Given the description of an element on the screen output the (x, y) to click on. 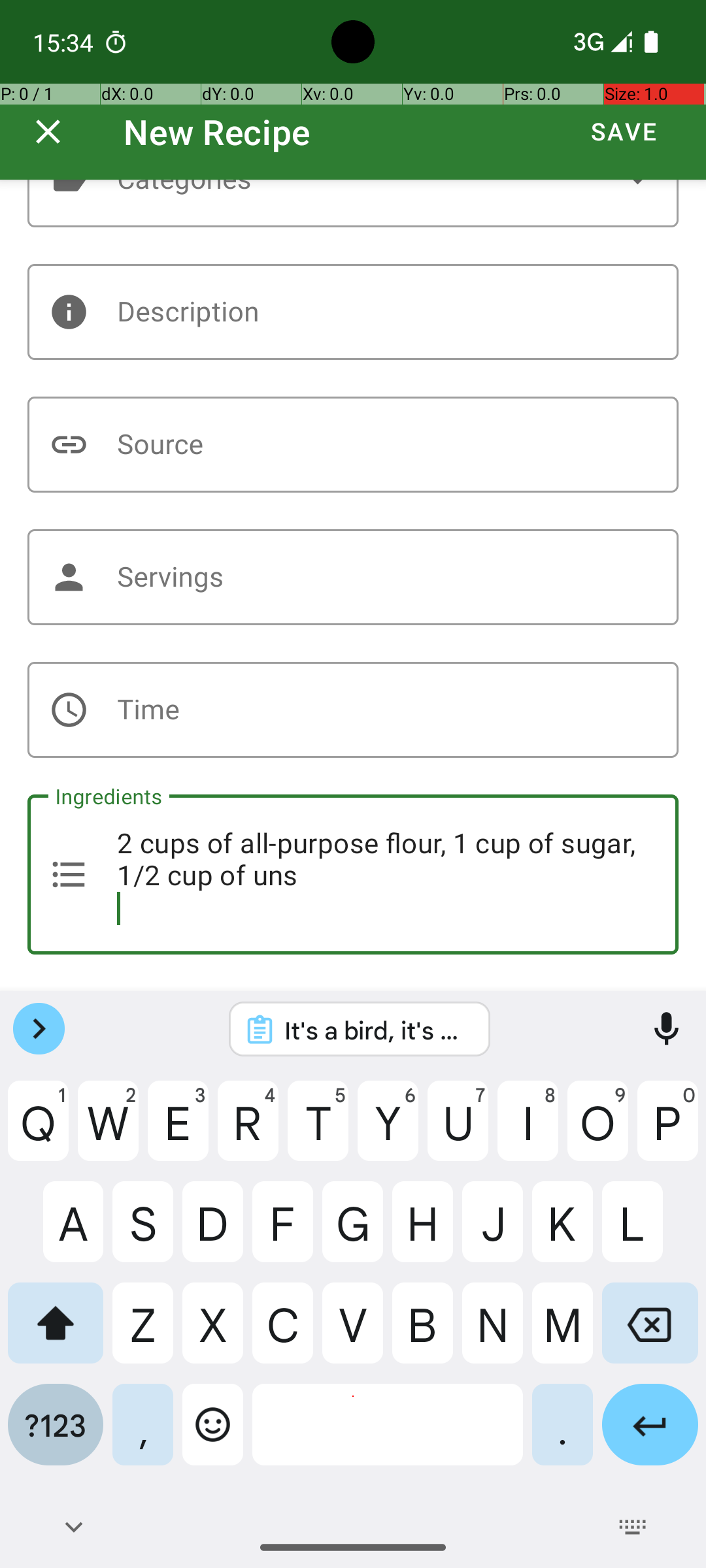
2 cups of all-purpose flour, 1 cup of sugar, 1/2 cup of uns
 Element type: android.widget.EditText (352, 874)
